Given the description of an element on the screen output the (x, y) to click on. 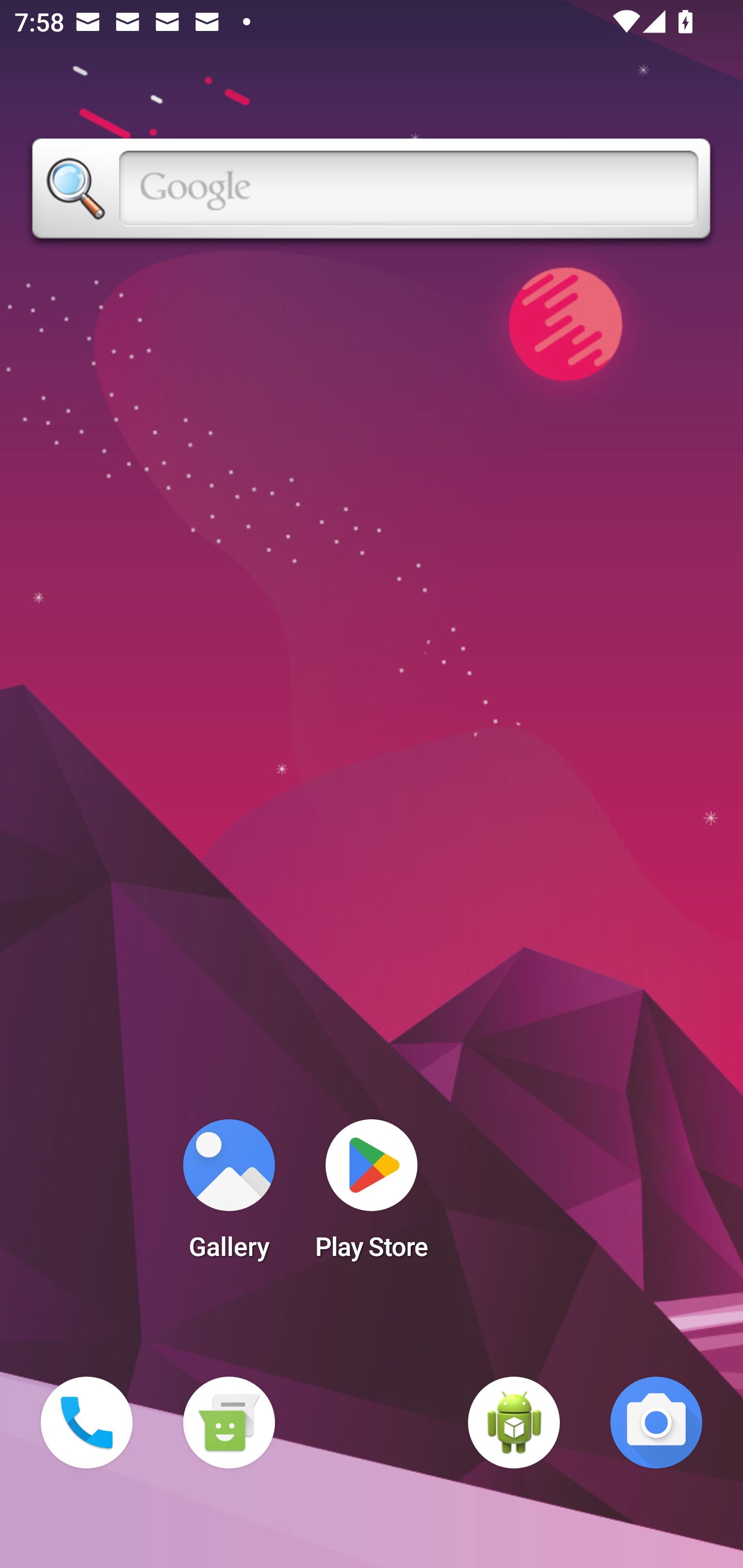
Gallery (228, 1195)
Play Store (371, 1195)
Phone (86, 1422)
Messaging (228, 1422)
WebView Browser Tester (513, 1422)
Camera (656, 1422)
